Given the description of an element on the screen output the (x, y) to click on. 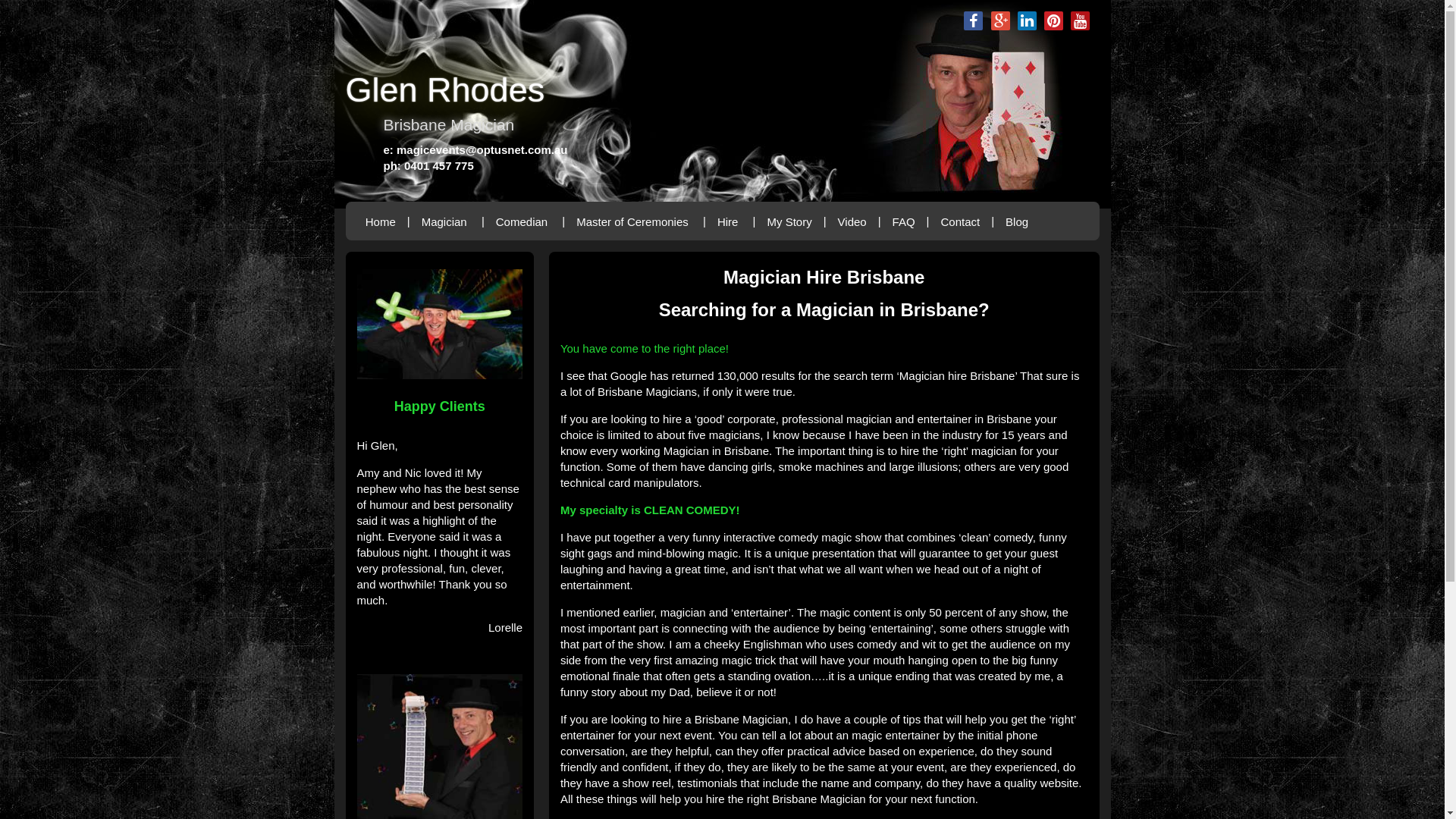
Blog Element type: text (1017, 221)
Video Element type: text (851, 221)
FAQ Element type: text (903, 221)
ph: 0401 457 775 Element type: text (428, 165)
Master of Ceremonies Element type: text (632, 221)
Skip to content Element type: text (399, 226)
My Story Element type: text (789, 221)
Magician Element type: text (443, 221)
Contact Element type: text (960, 221)
Hire Element type: text (727, 221)
e: magicevents@optusnet.com.au Element type: text (475, 149)
Comedian Element type: text (520, 221)
Glen Rhodes
Brisbane Magician Element type: text (722, 100)
Home Element type: text (380, 221)
